Given the description of an element on the screen output the (x, y) to click on. 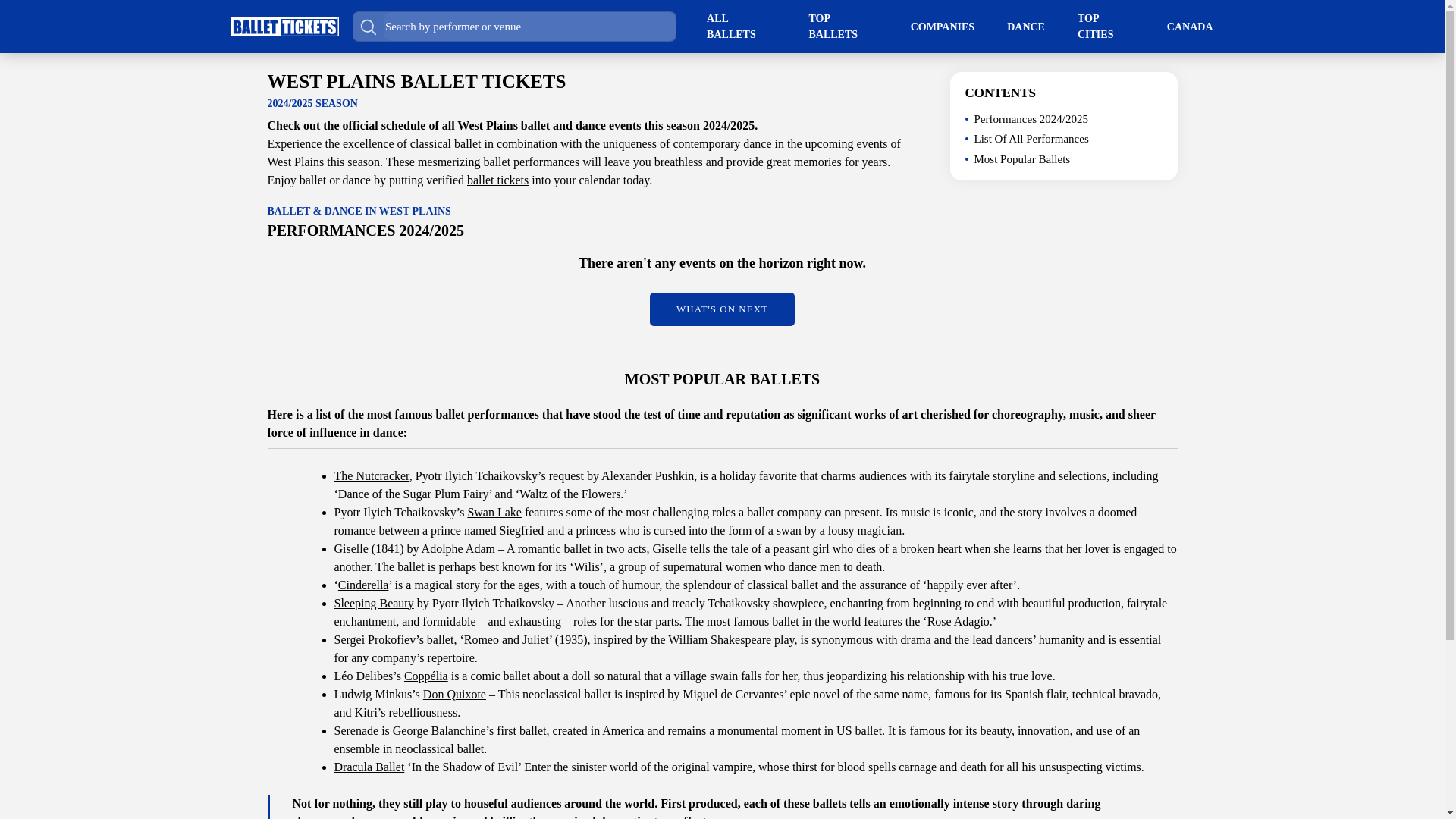
Dracula Ballet (368, 766)
Cinderella (362, 584)
ballet tickets (497, 179)
Giselle (350, 547)
DANCE (1026, 26)
WHAT'S ON NEXT (721, 308)
TOP CITIES (1105, 26)
CANADA (1189, 26)
Romeo and Juliet (506, 638)
The Nutcracker (371, 474)
Serenade (355, 729)
Swan Lake (494, 511)
ALL BALLETS (741, 26)
Don Quixote (454, 693)
COMPANIES (943, 26)
